Given the description of an element on the screen output the (x, y) to click on. 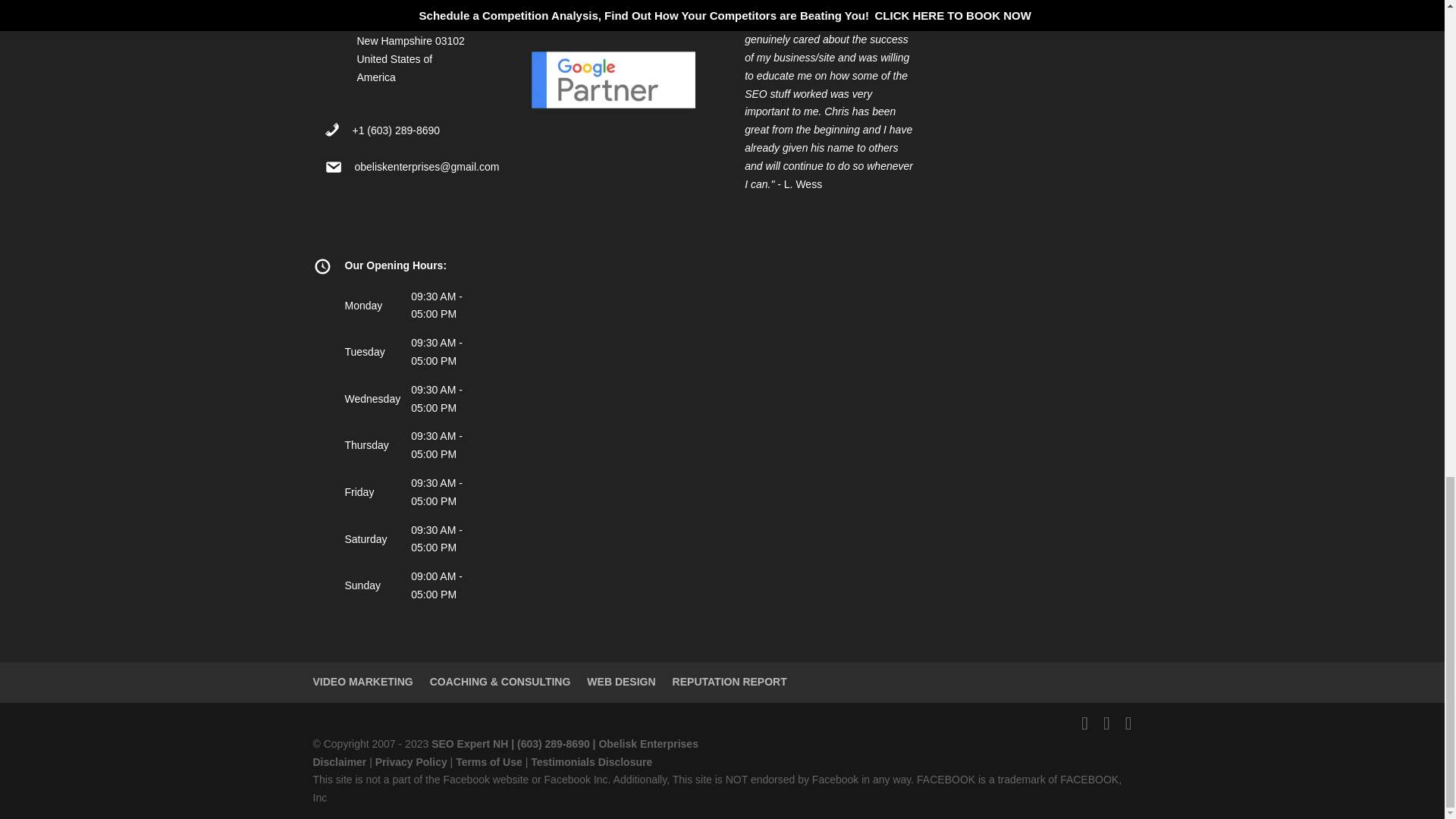
VIDEO MARKETING (362, 681)
Testimonials Disclosure (591, 761)
Disclaimer (339, 761)
Terms of Use (488, 761)
WEB DESIGN (620, 681)
Privacy Policy (410, 761)
REPUTATION REPORT (729, 681)
